Given the description of an element on the screen output the (x, y) to click on. 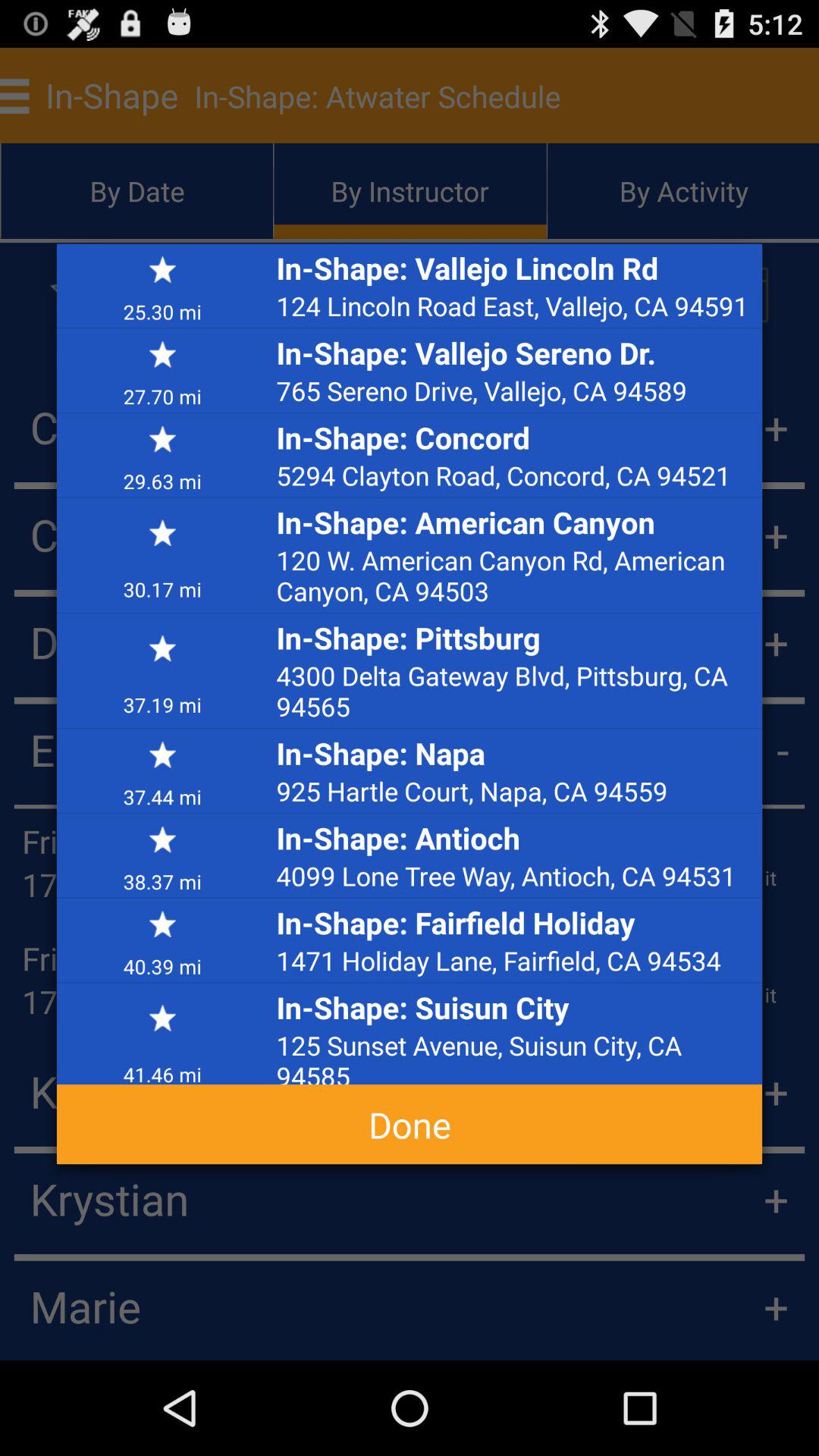
jump until 124 lincoln road item (515, 305)
